Given the description of an element on the screen output the (x, y) to click on. 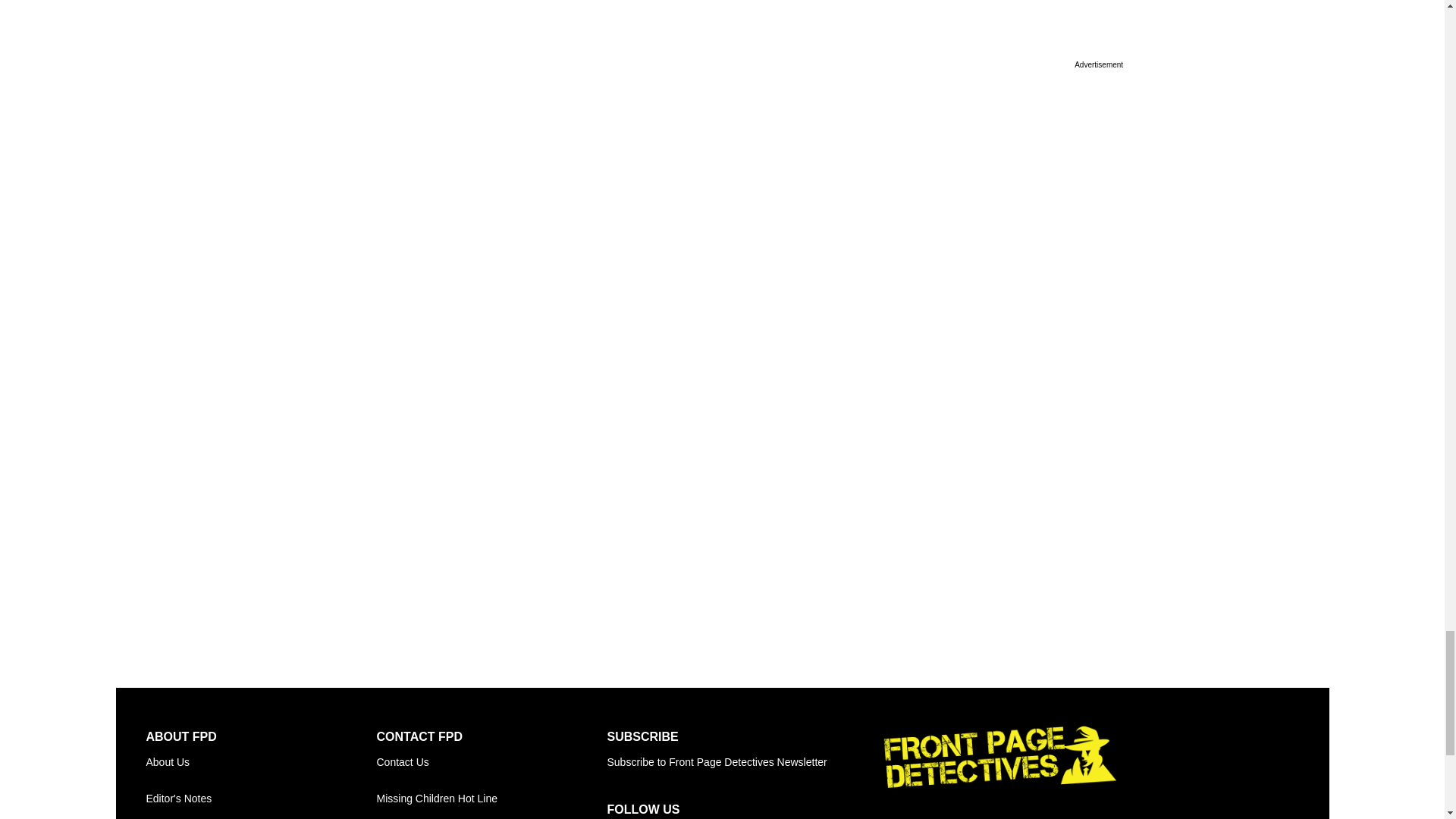
Contact Us (491, 761)
Editor's Notes (260, 798)
Missing Children Hot Line (491, 798)
About Front Page Detectives (260, 761)
About Us (260, 761)
